Given the description of an element on the screen output the (x, y) to click on. 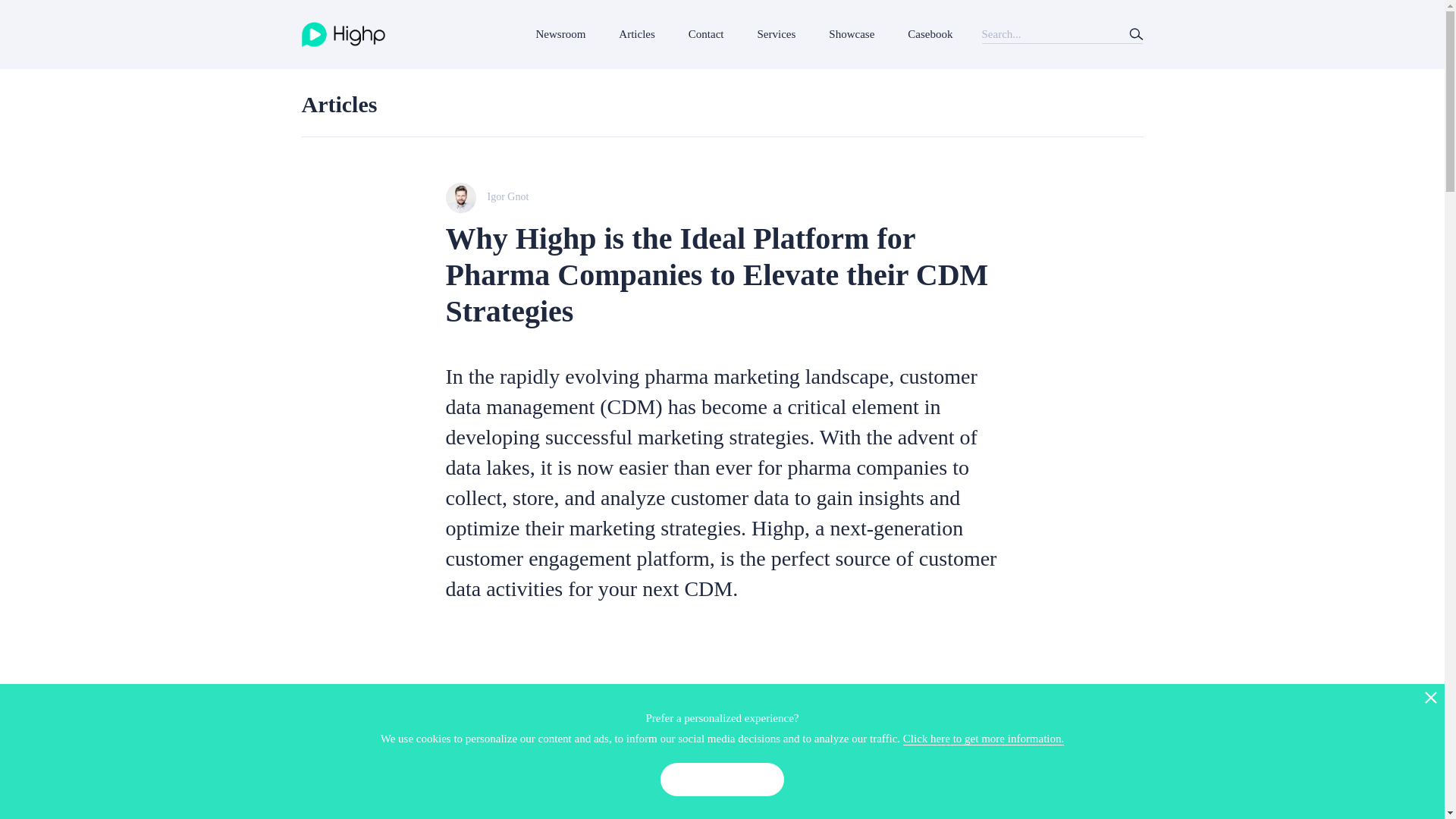
Newsroom (561, 34)
Casebook (930, 34)
Igor Gnot (721, 197)
Services (777, 34)
Articles (339, 104)
Showcase (851, 34)
Contact (705, 34)
Articles (635, 34)
Click here to get more information. (983, 738)
